Given the description of an element on the screen output the (x, y) to click on. 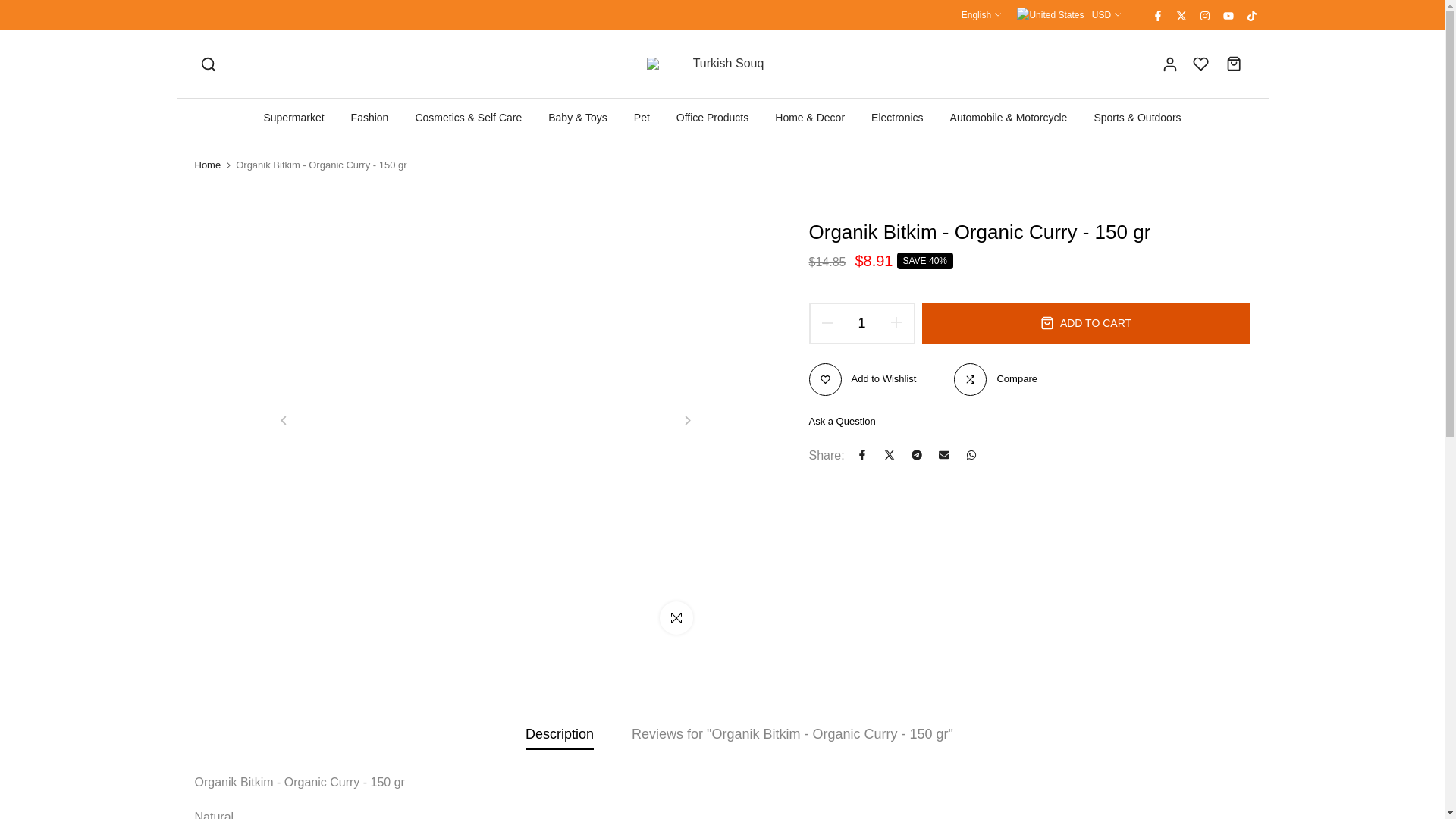
Share on Facebook (861, 454)
English (980, 14)
Share on Twitter (889, 454)
Skip to content (10, 7)
USD (1068, 15)
Share on WhatsApp (970, 454)
Share on Email (943, 454)
Share on Telegram (917, 454)
